Given the description of an element on the screen output the (x, y) to click on. 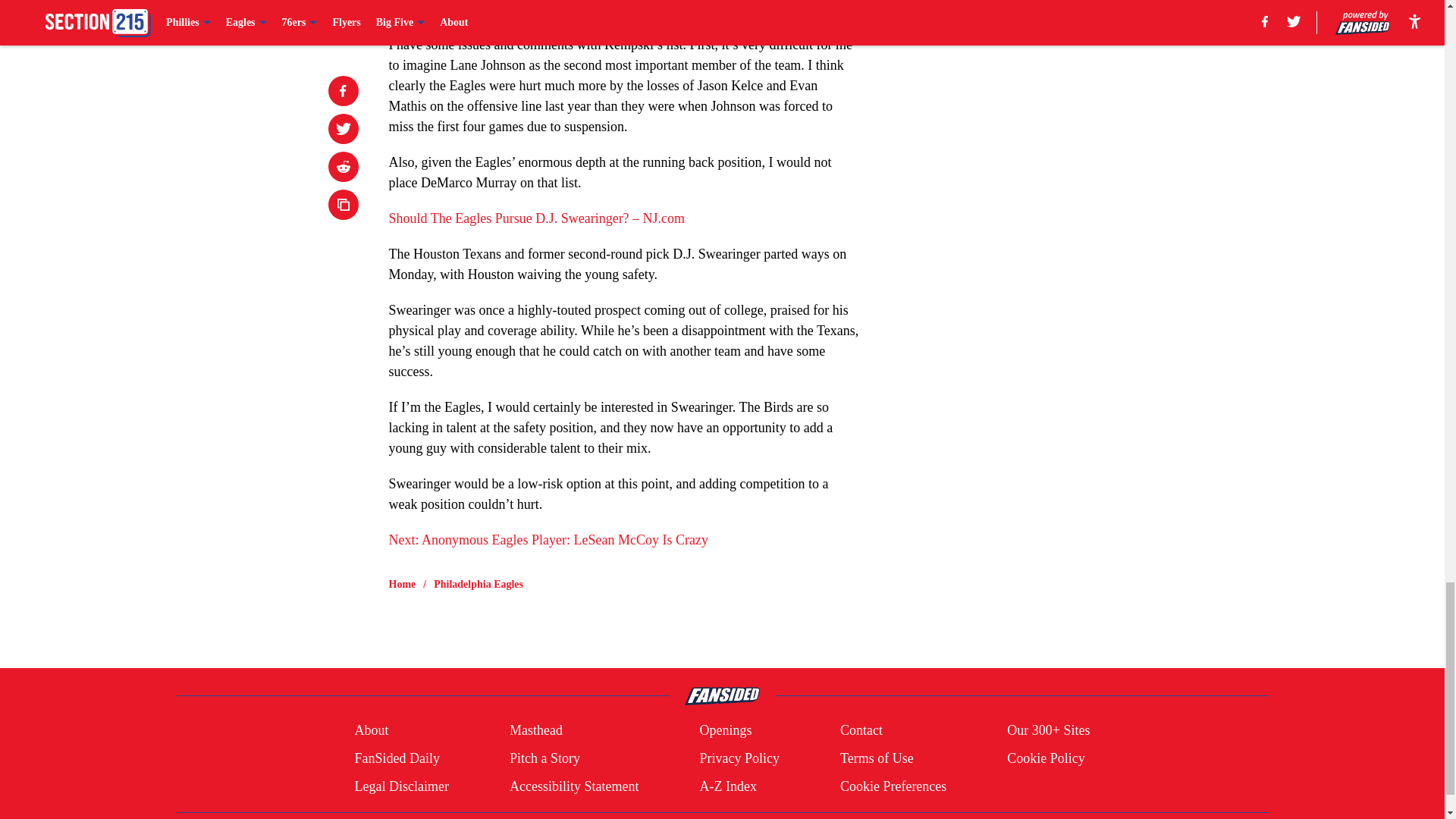
Masthead (535, 730)
About (370, 730)
Openings (724, 730)
Philadelphia Eagles (477, 584)
Home (401, 584)
Contact (861, 730)
FanSided Daily (396, 758)
Next: Anonymous Eagles Player: LeSean McCoy Is Crazy (547, 539)
